Given the description of an element on the screen output the (x, y) to click on. 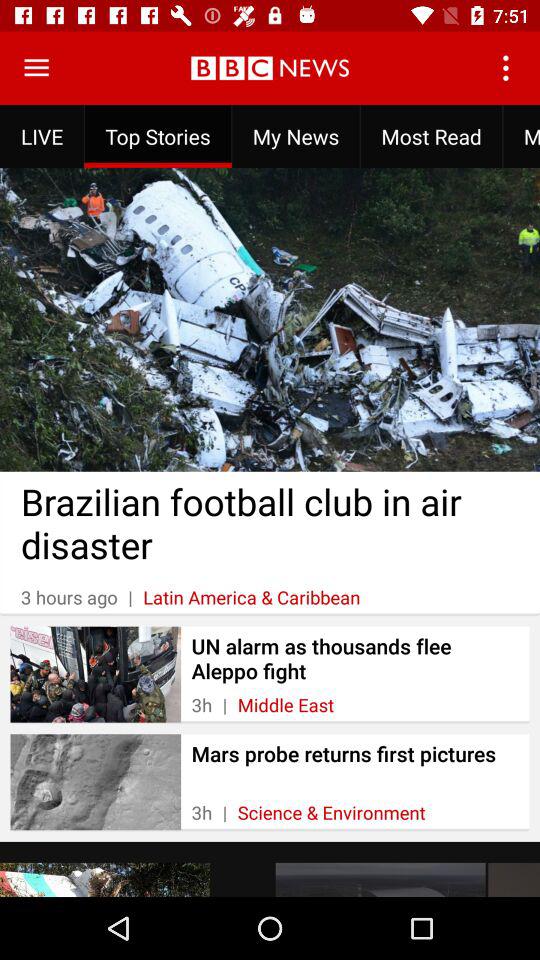
open icon to the left of the my news item (157, 136)
